Given the description of an element on the screen output the (x, y) to click on. 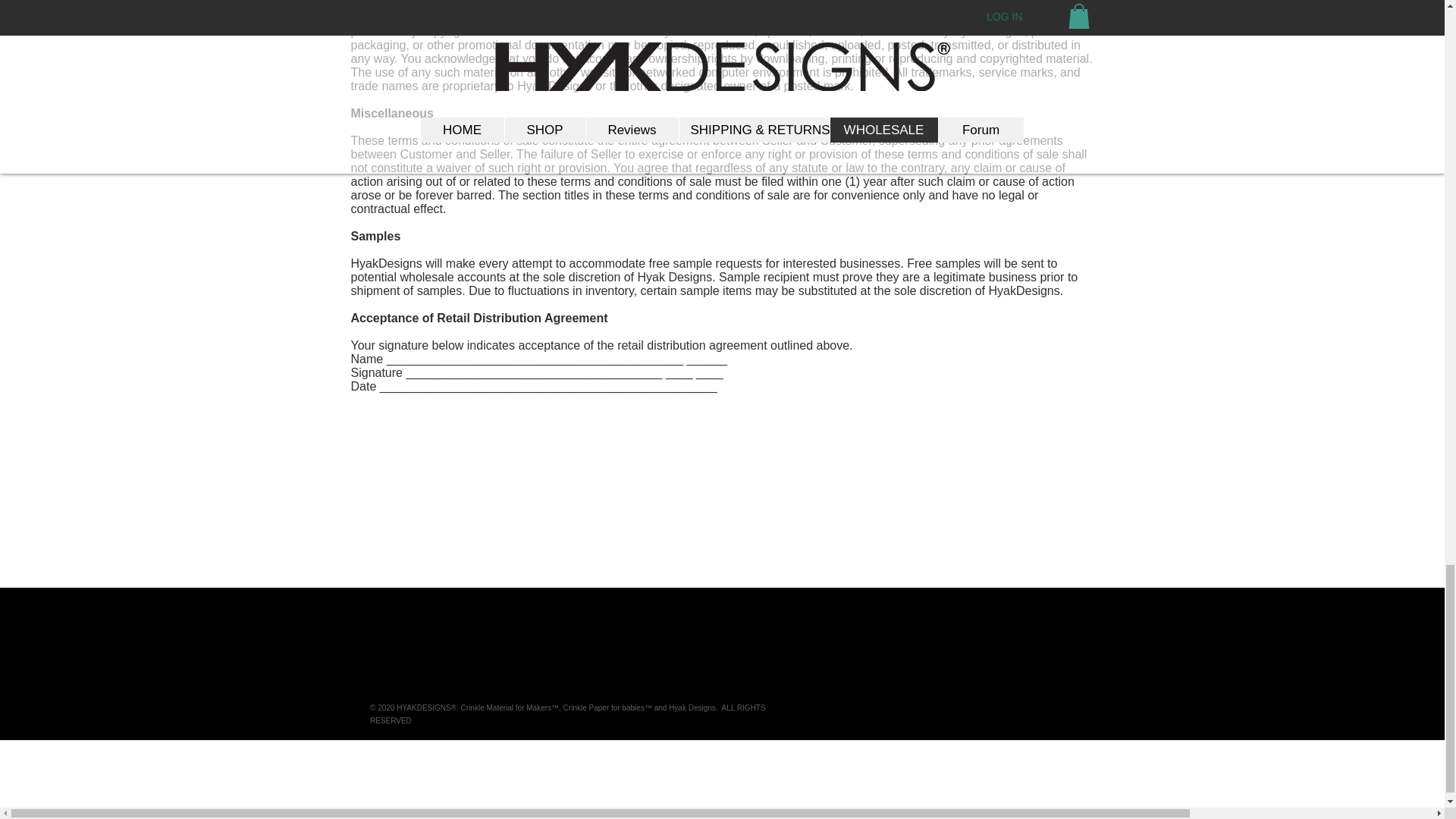
Hyak Designs Wholesale Agreement.pdf (739, 441)
